Given the description of an element on the screen output the (x, y) to click on. 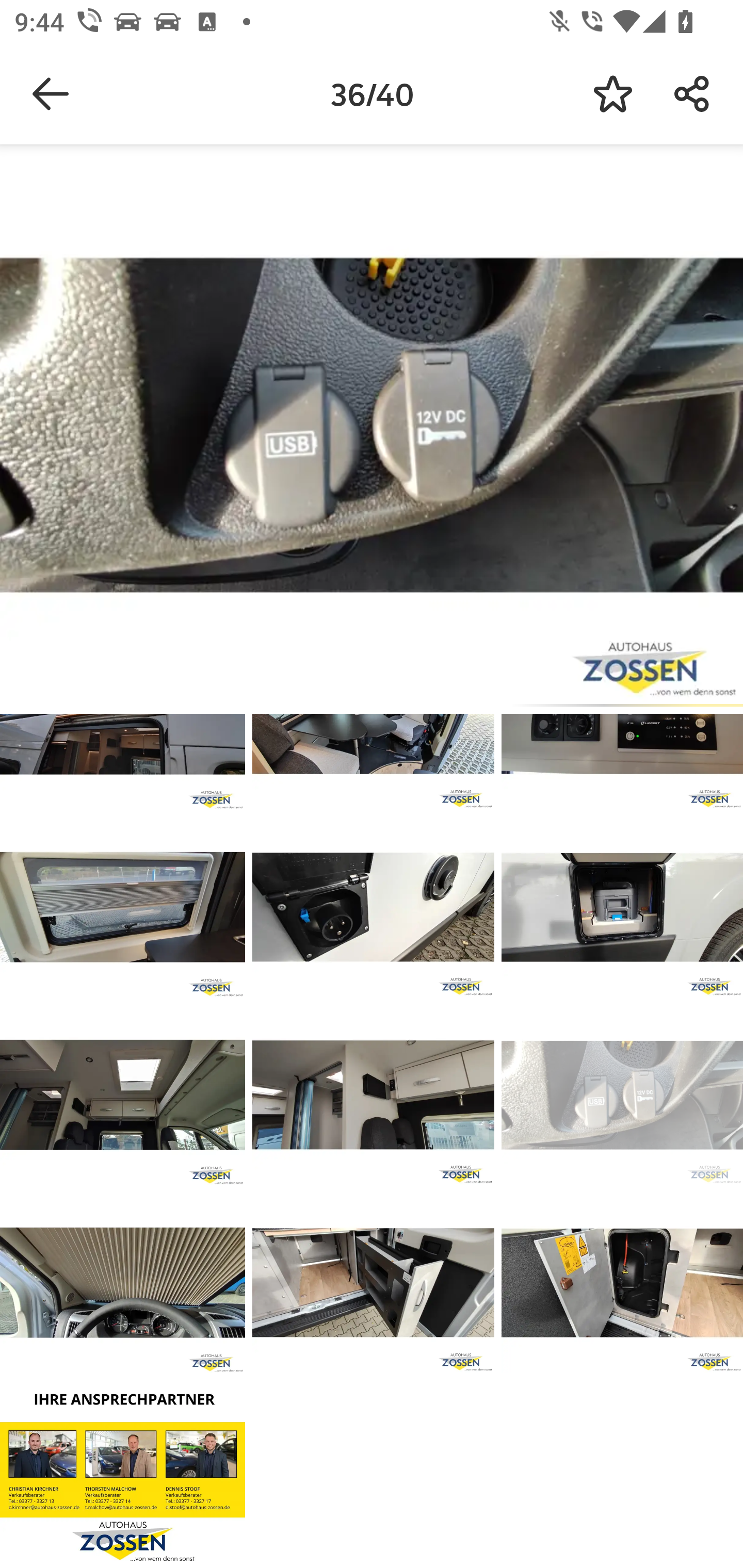
back button (50, 93)
share button (692, 93)
main image view (371, 428)
image (122, 906)
image (373, 906)
image (622, 906)
image (122, 1095)
image (373, 1095)
image (622, 1095)
image (122, 1283)
image (373, 1283)
image (622, 1283)
image (122, 1469)
